Given the description of an element on the screen output the (x, y) to click on. 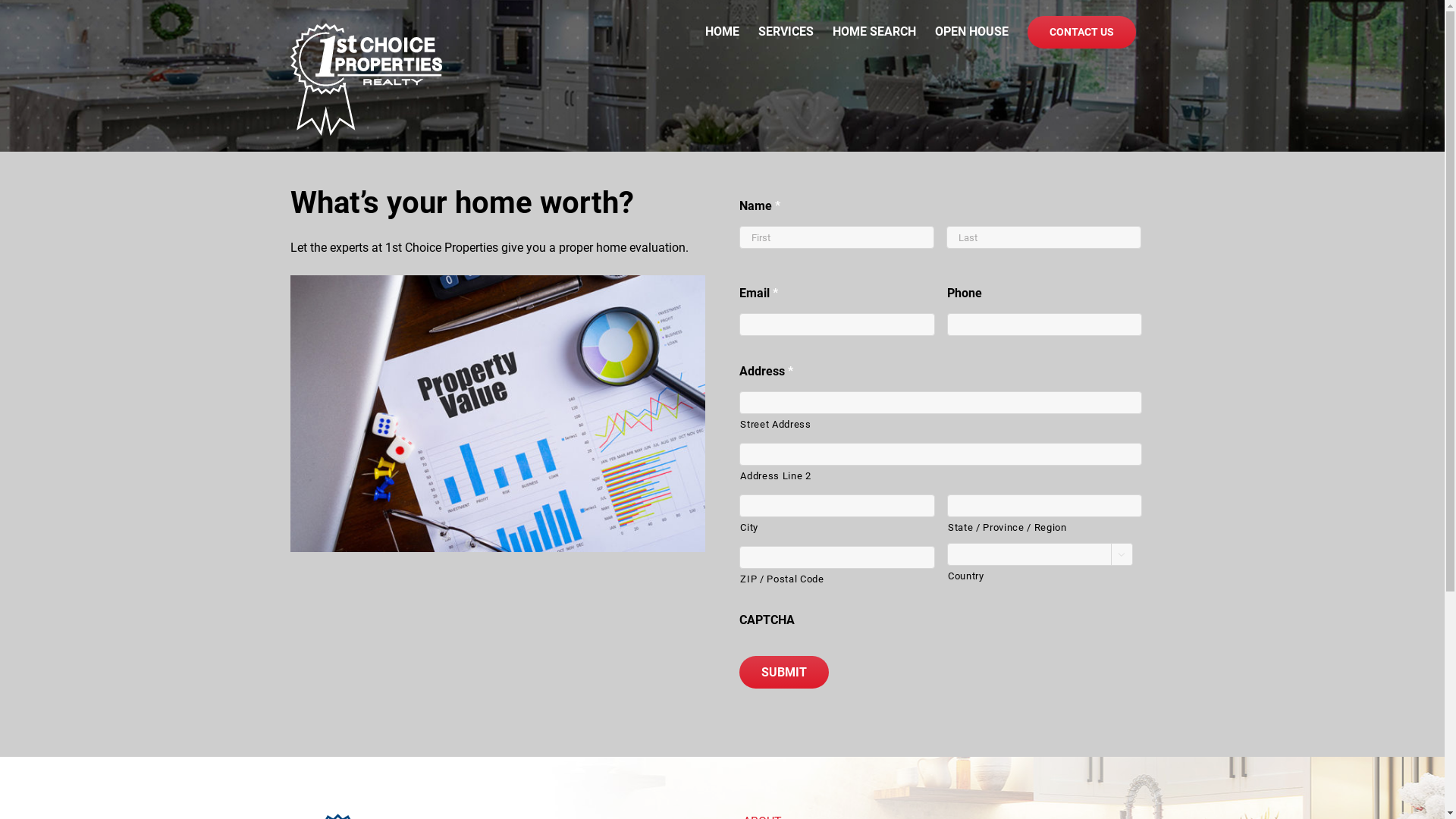
CONTACT US Element type: text (1080, 31)
SERVICES Element type: text (785, 31)
HOME SEARCH Element type: text (874, 31)
HOME Element type: text (722, 31)
OPEN HOUSE Element type: text (970, 31)
Submit Element type: text (783, 671)
